Given the description of an element on the screen output the (x, y) to click on. 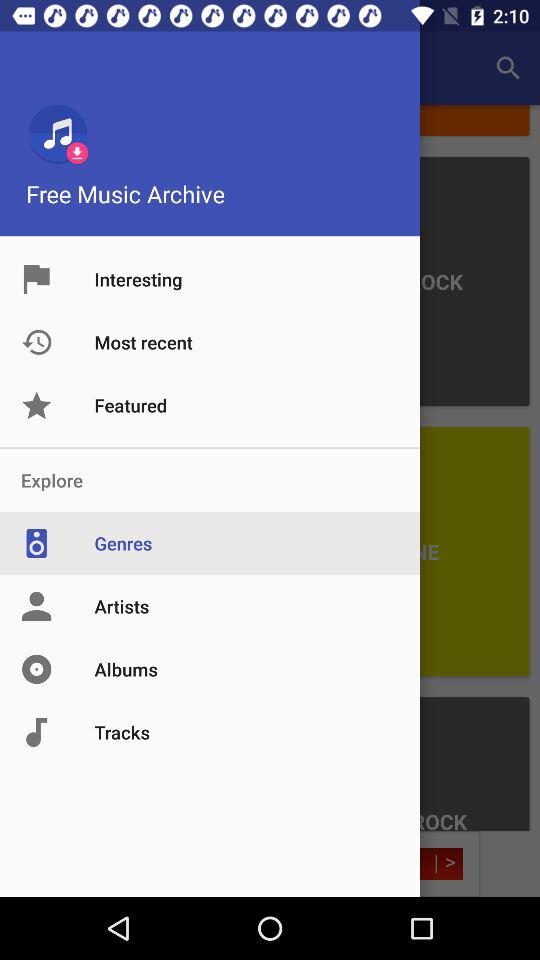
icon before most recent text (58, 342)
click on the icon at left side of albums (58, 669)
